Given the description of an element on the screen output the (x, y) to click on. 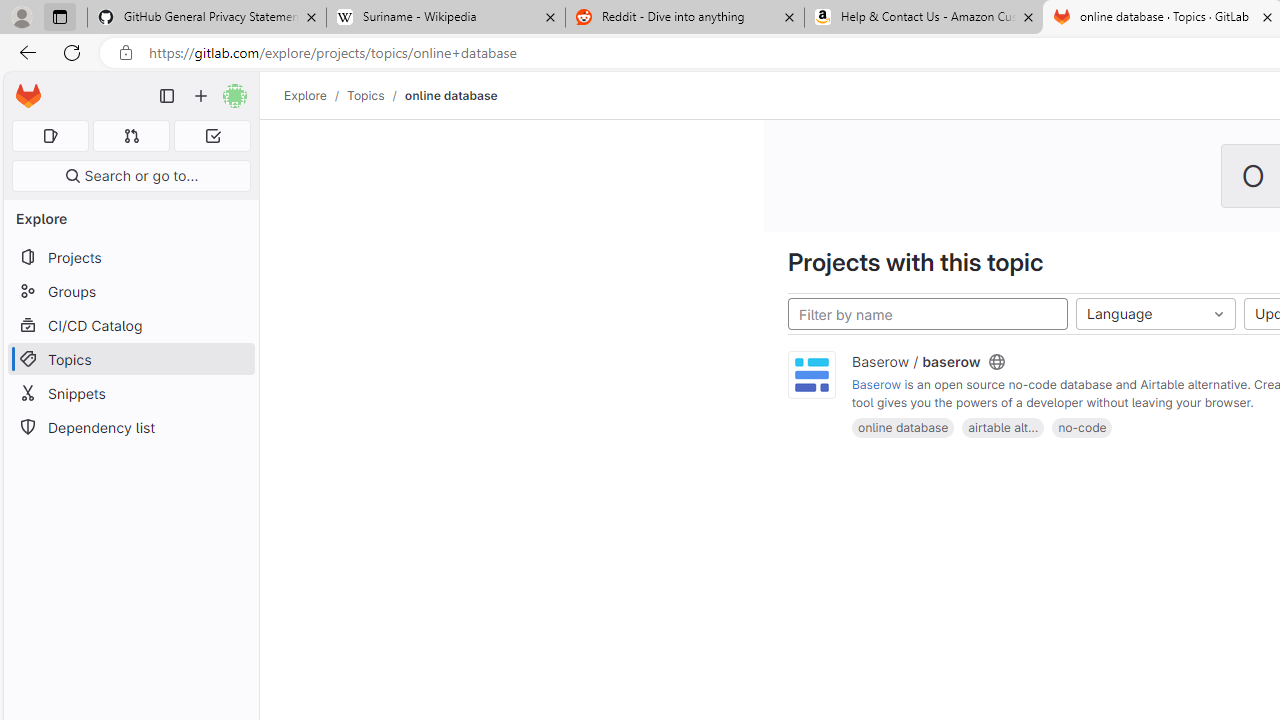
online database (450, 95)
Assigned issues 0 (50, 136)
CI/CD Catalog (130, 325)
Explore (305, 95)
Class: s16 (996, 362)
Primary navigation sidebar (167, 96)
CI/CD Catalog (130, 325)
Help & Contact Us - Amazon Customer Service (924, 17)
no-code (1082, 426)
Explore/ (316, 95)
Merge requests 0 (131, 136)
Topics (130, 358)
